Given the description of an element on the screen output the (x, y) to click on. 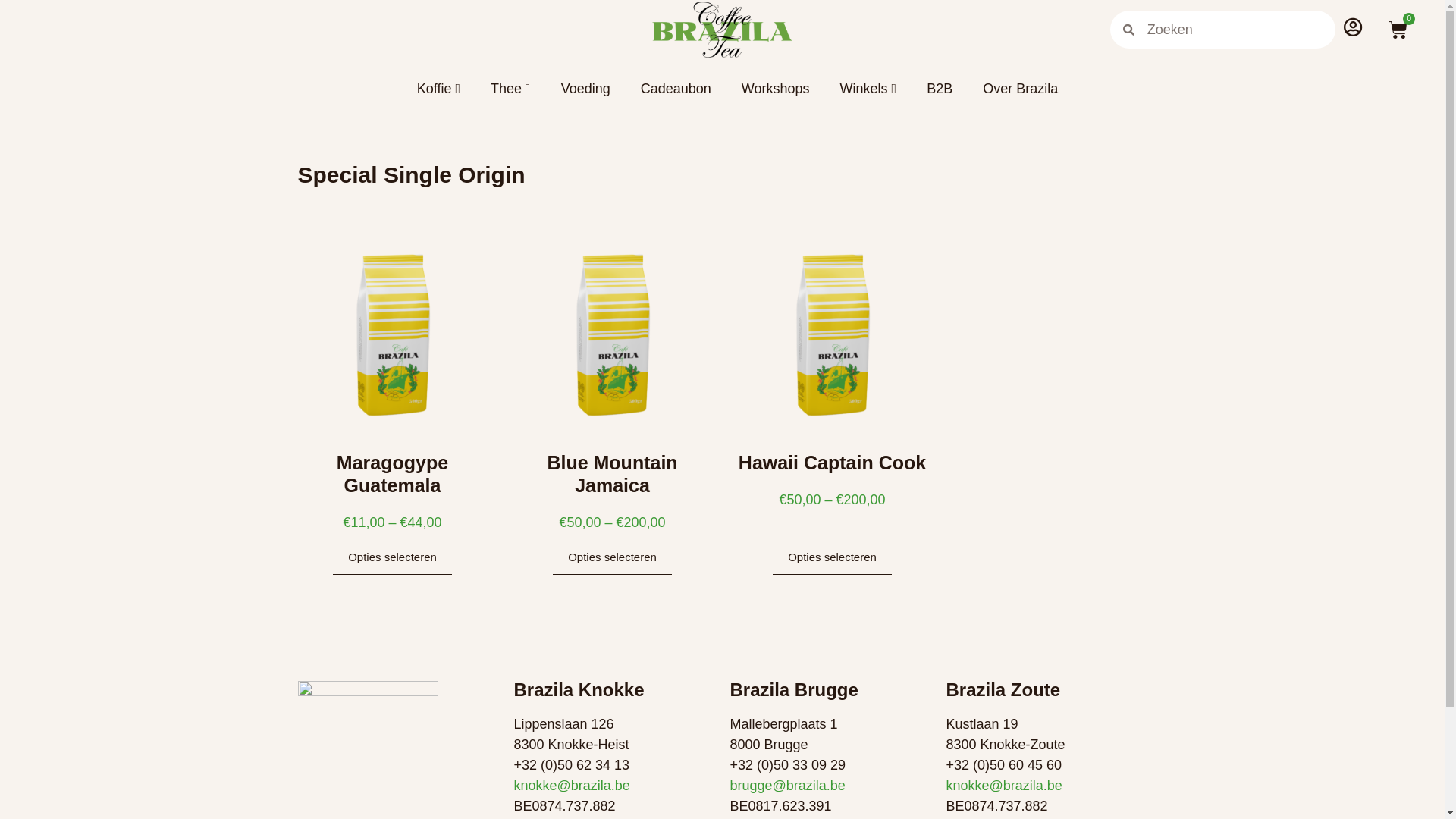
B2B Element type: text (924, 88)
8300 Knokke-Heist Element type: text (571, 744)
Opties selecteren Element type: text (611, 556)
0 Element type: text (1397, 29)
+32 (0)50 60 45 60 Element type: text (1004, 764)
Opties selecteren Element type: text (831, 556)
+32 (0)50 62 34 13 Element type: text (572, 764)
Over Brazila Element type: text (1004, 88)
Kustlaan 19 Element type: text (982, 723)
Voeding Element type: text (570, 88)
8000 Brugge Element type: text (768, 744)
knokke@brazila.be Element type: text (572, 785)
Opties selecteren Element type: text (391, 556)
Cadeaubon Element type: text (660, 88)
knokke@brazila.be Element type: text (1004, 785)
Lippenslaan 126 Element type: text (564, 723)
8300 Knokke-Zoute Element type: text (1005, 744)
Mallebergplaats 1 Element type: text (783, 723)
brugge@brazila.be Element type: text (786, 785)
+32 (0)50 33 09 29 Element type: text (787, 764)
Workshops Element type: text (760, 88)
